Given the description of an element on the screen output the (x, y) to click on. 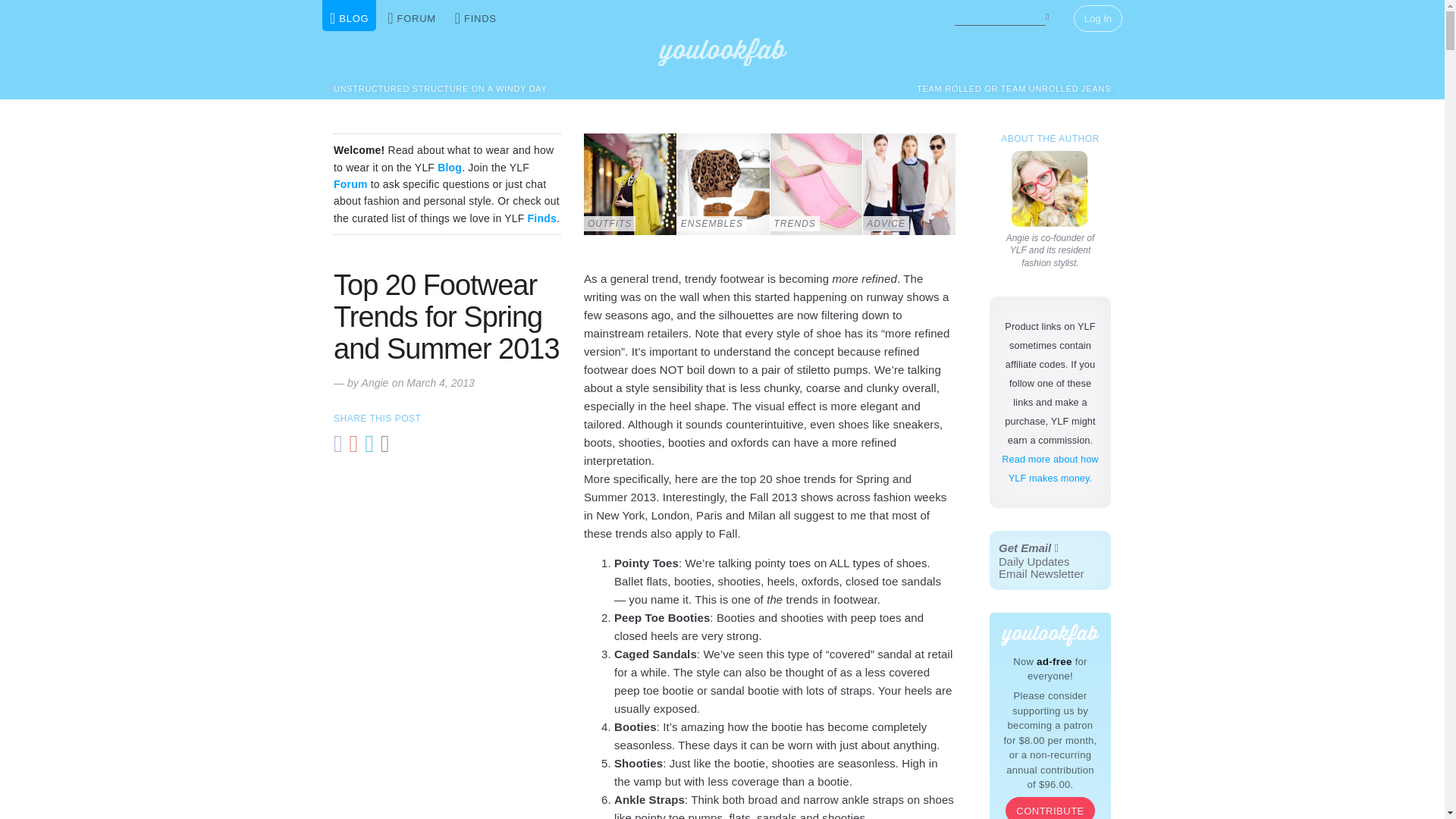
CONTRIBUTE (1050, 807)
Forum (350, 184)
Top 20 Footwear Trends for Spring and Summer 2013 (446, 316)
TRENDS (816, 184)
Blog (449, 167)
Read more about how YLF makes money. (1049, 468)
FORUM (412, 15)
FINDS (474, 15)
BLOG (348, 15)
UNSTRUCTURED STRUCTURE ON A WINDY DAY (435, 87)
Angie (1049, 188)
ADVICE (909, 184)
Finds (1050, 559)
